Given the description of an element on the screen output the (x, y) to click on. 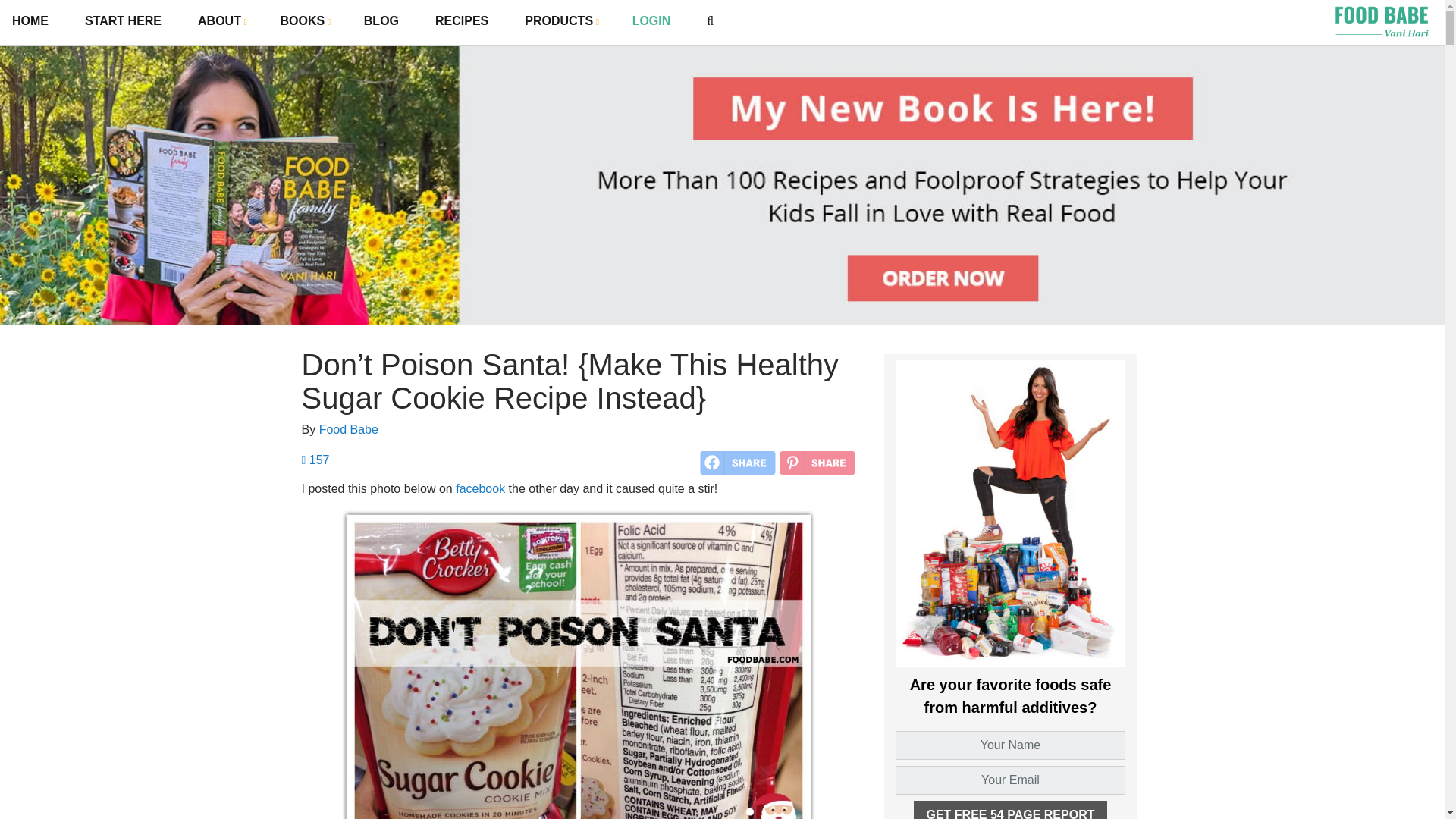
RECIPES (461, 21)
facebook (480, 488)
Food Babe (348, 429)
BLOG (381, 21)
ABOUT (220, 20)
LOGIN (651, 21)
HOME (29, 21)
BOOKS (304, 20)
157 (315, 459)
PRODUCTS (559, 20)
